Given the description of an element on the screen output the (x, y) to click on. 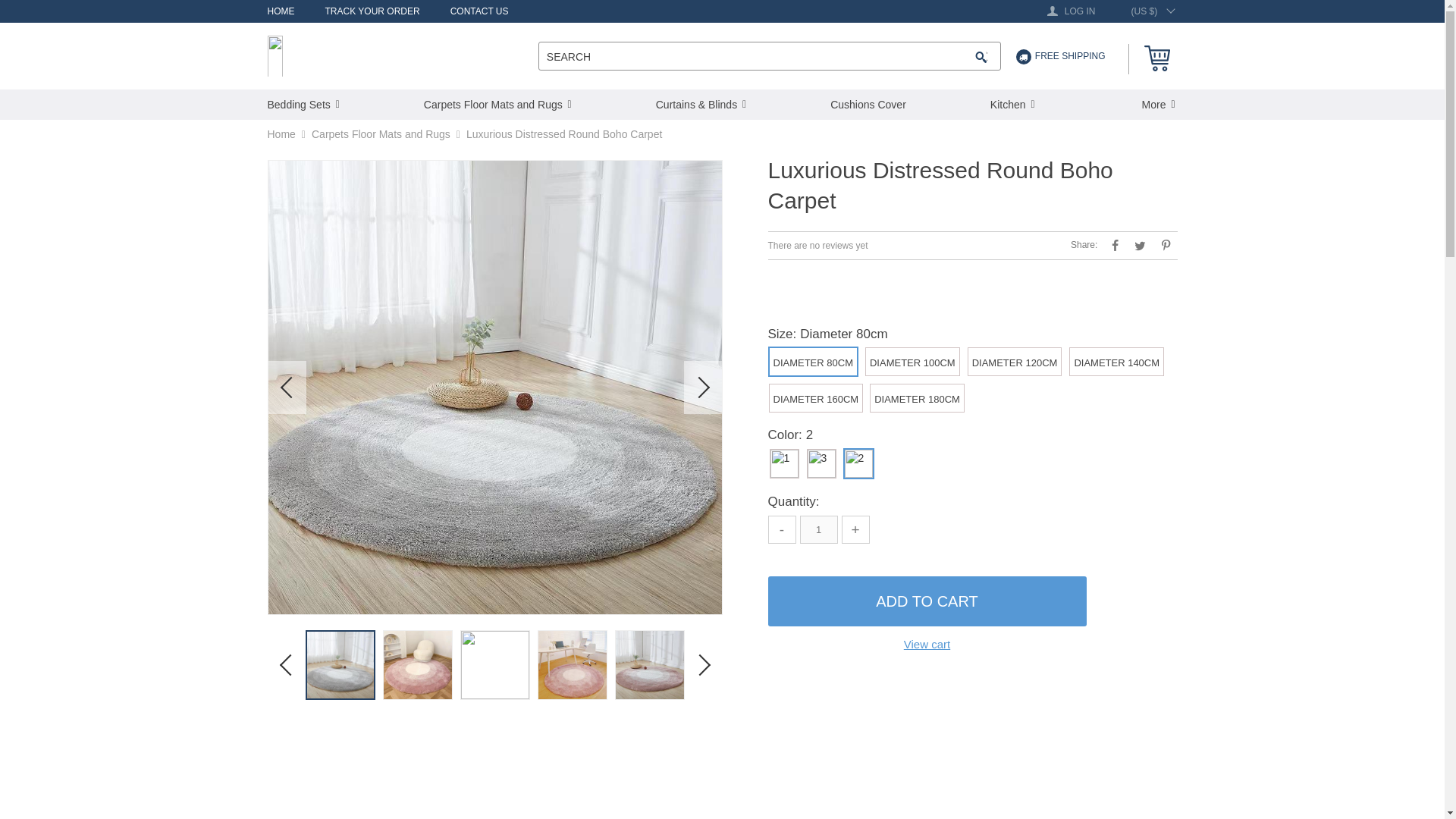
1 (818, 529)
3 (820, 463)
HOME (280, 11)
Add review (817, 245)
1 (783, 463)
CONTACT US (478, 11)
2 (858, 463)
TRACK YOUR ORDER (371, 11)
